Given the description of an element on the screen output the (x, y) to click on. 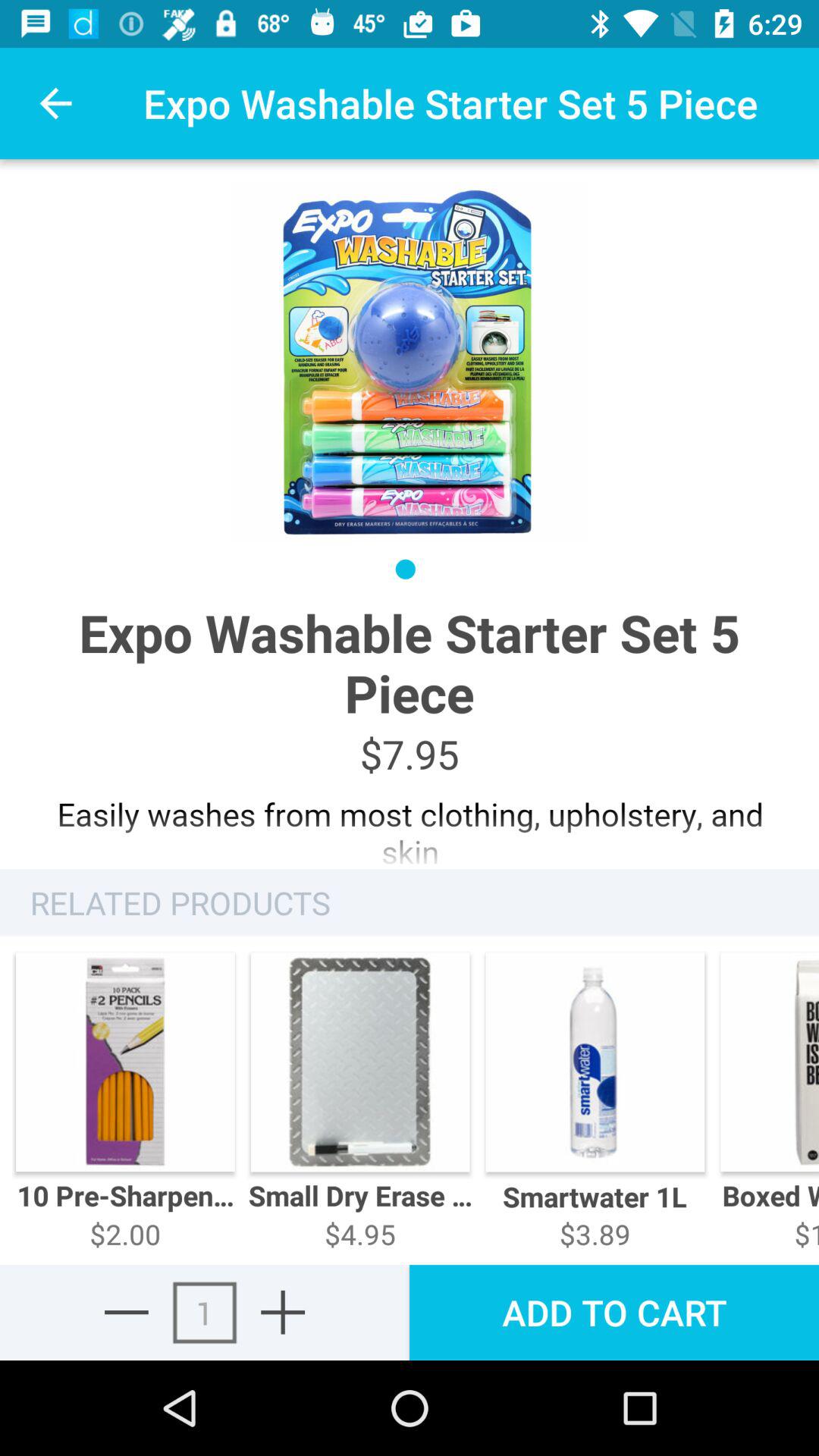
remove (126, 1312)
